Given the description of an element on the screen output the (x, y) to click on. 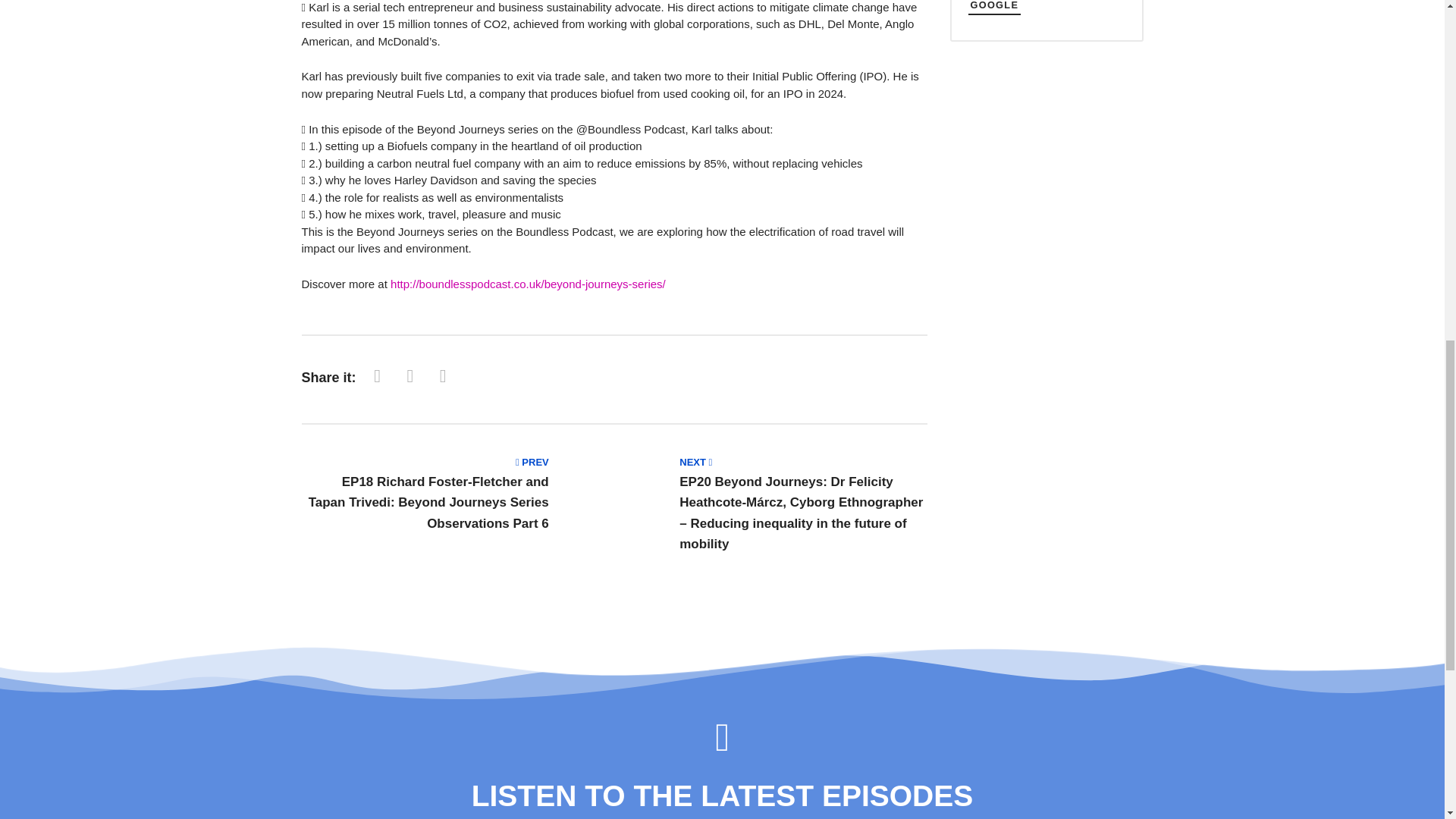
NEXT (695, 461)
GOOGLE (994, 7)
PREV (531, 461)
